Given the description of an element on the screen output the (x, y) to click on. 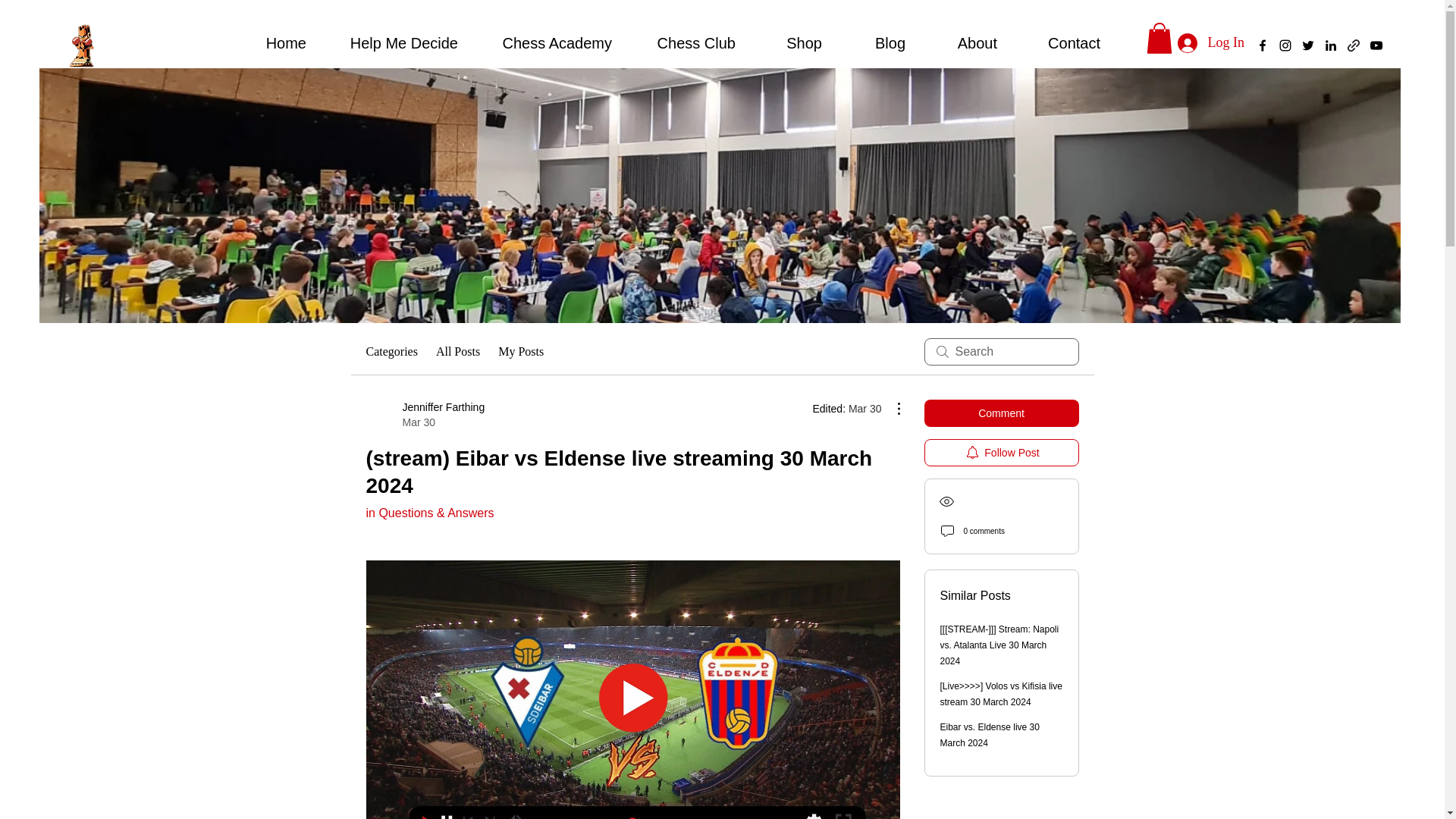
Blog (874, 43)
All Posts (457, 352)
Help Me Decide (392, 43)
About (963, 43)
Log In (1210, 42)
Contact (1060, 43)
Home (271, 43)
Categories (390, 352)
Chess Academy (424, 414)
